Given the description of an element on the screen output the (x, y) to click on. 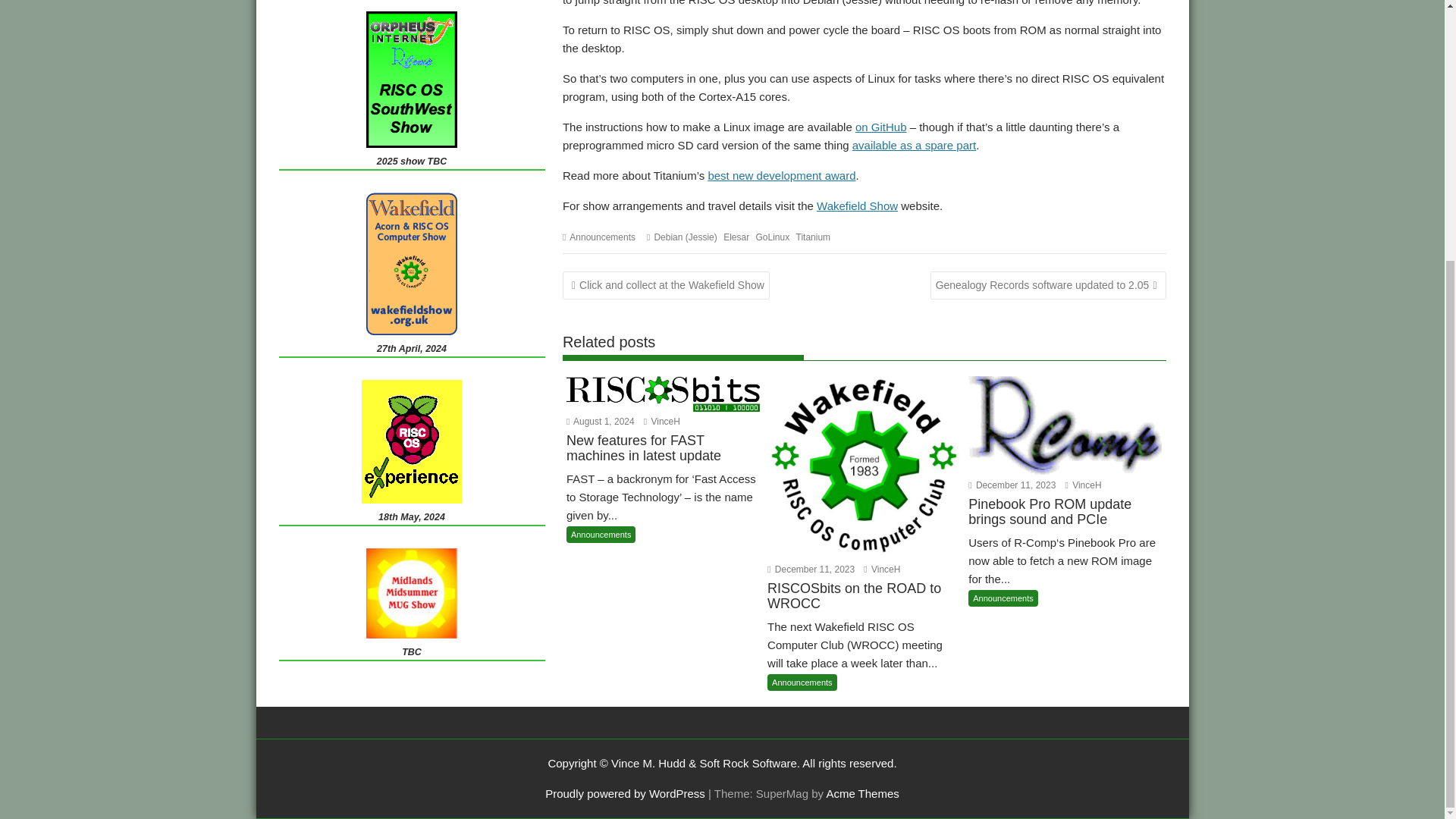
VinceH (661, 421)
GoLinux (772, 236)
VinceH (881, 569)
VinceH (1082, 484)
Wakefield Show (857, 205)
available as a spare part (913, 144)
Click and collect at the Wakefield Show (666, 284)
Announcements (601, 236)
on GitHub (881, 126)
Genealogy Records software updated to 2.05 (1048, 284)
